Given the description of an element on the screen output the (x, y) to click on. 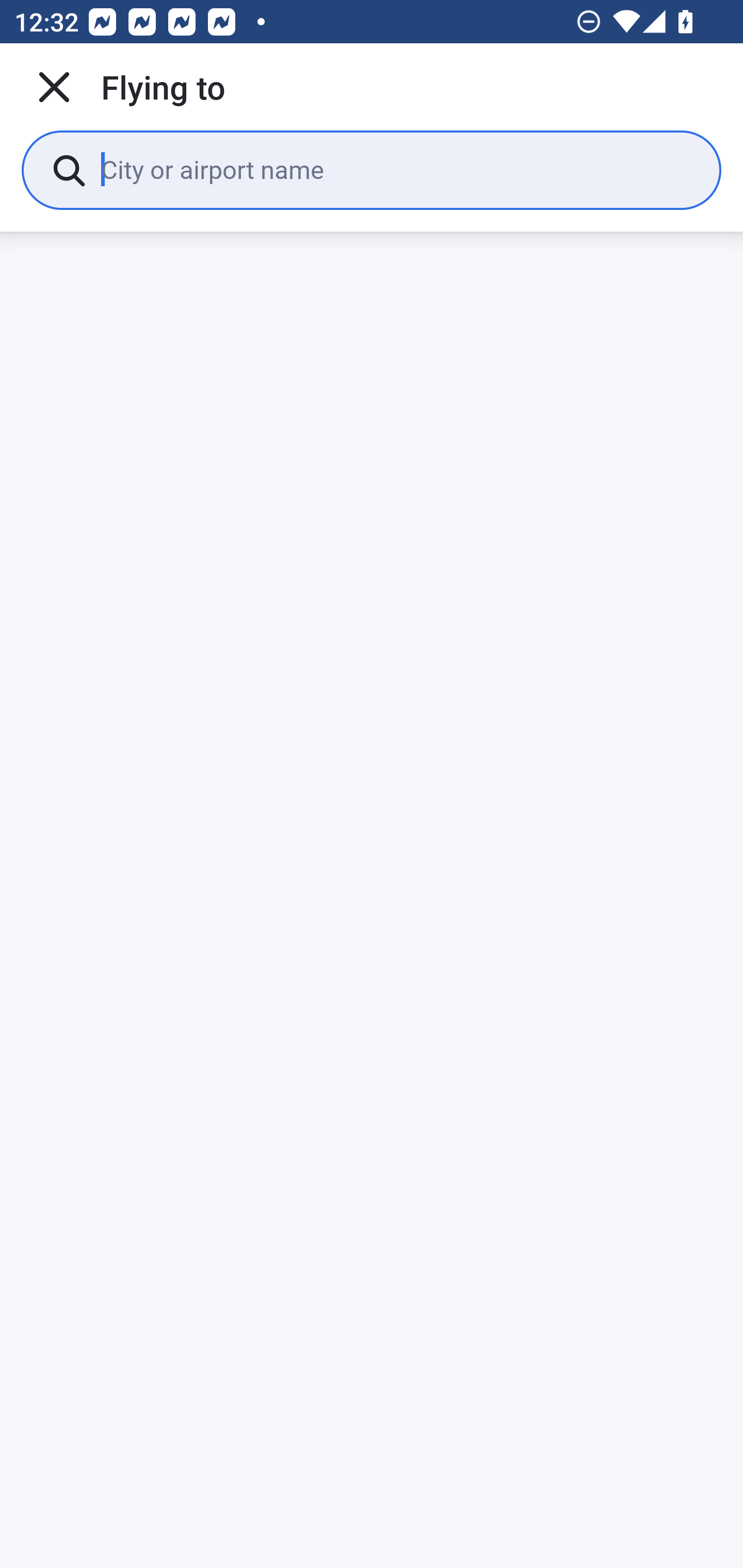
City or airport name (396, 169)
